Given the description of an element on the screen output the (x, y) to click on. 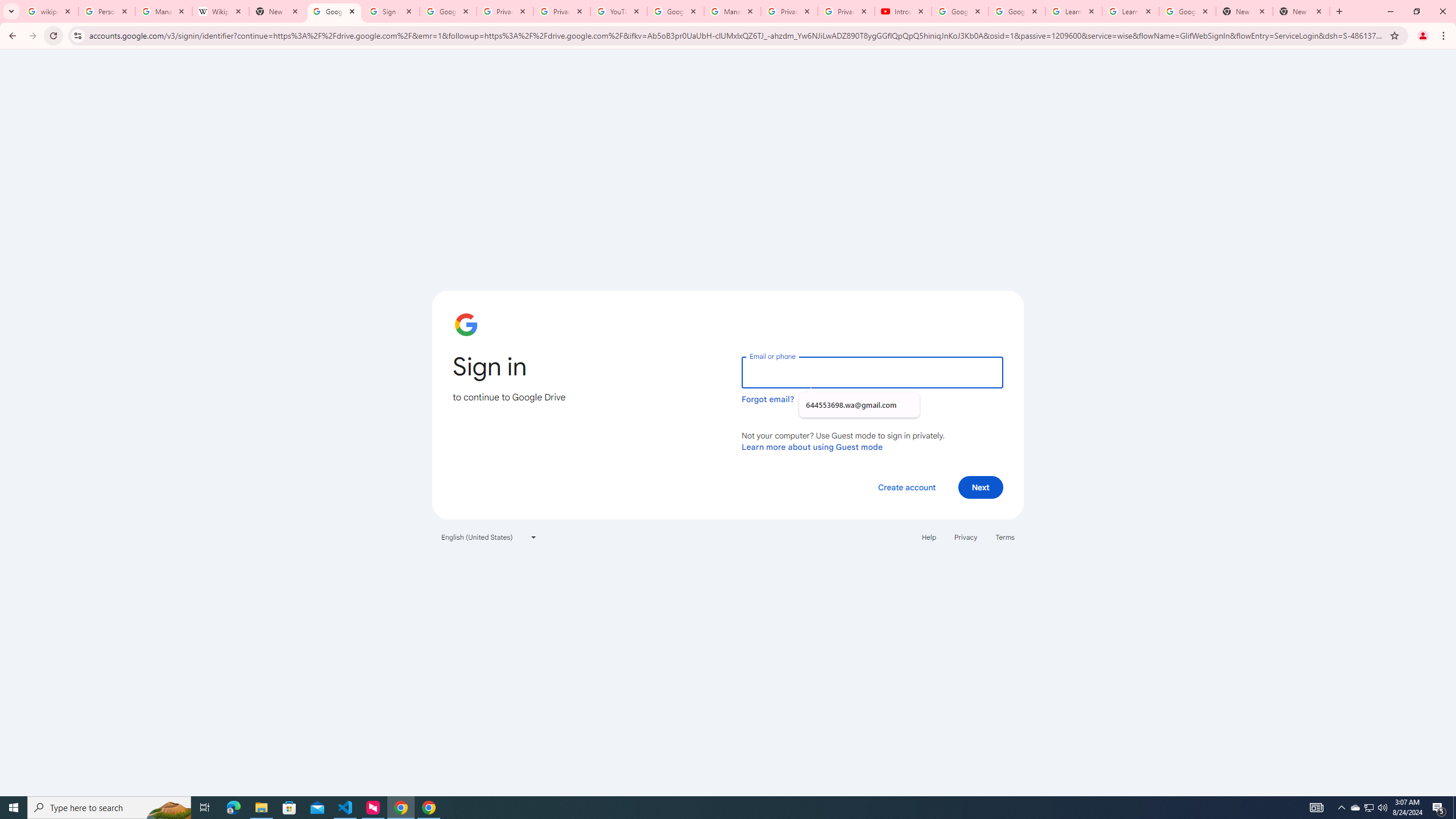
Google Drive: Sign-in (447, 11)
New Tab (1244, 11)
Google Account Help (675, 11)
Email or phone (871, 372)
English (United States) (489, 536)
Introduction | Google Privacy Policy - YouTube (902, 11)
Learn more about using Guest mode (812, 446)
